Given the description of an element on the screen output the (x, y) to click on. 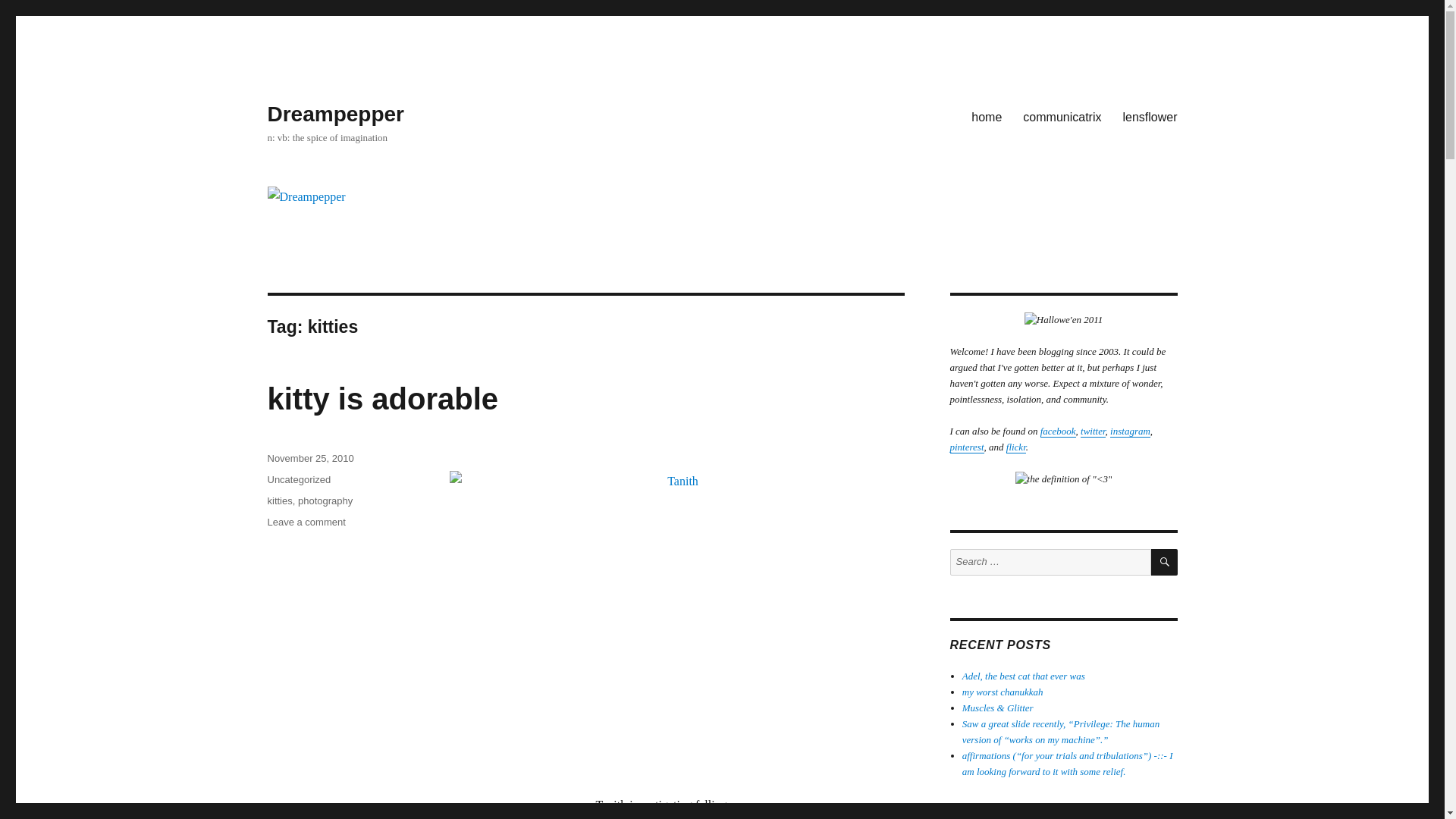
November 25, 2010 (309, 458)
Dreampepper (335, 114)
lensflower (1150, 116)
communicatrix (1061, 116)
photography (325, 500)
home (985, 116)
kitty is adorable (381, 398)
kitties (279, 500)
